Given the description of an element on the screen output the (x, y) to click on. 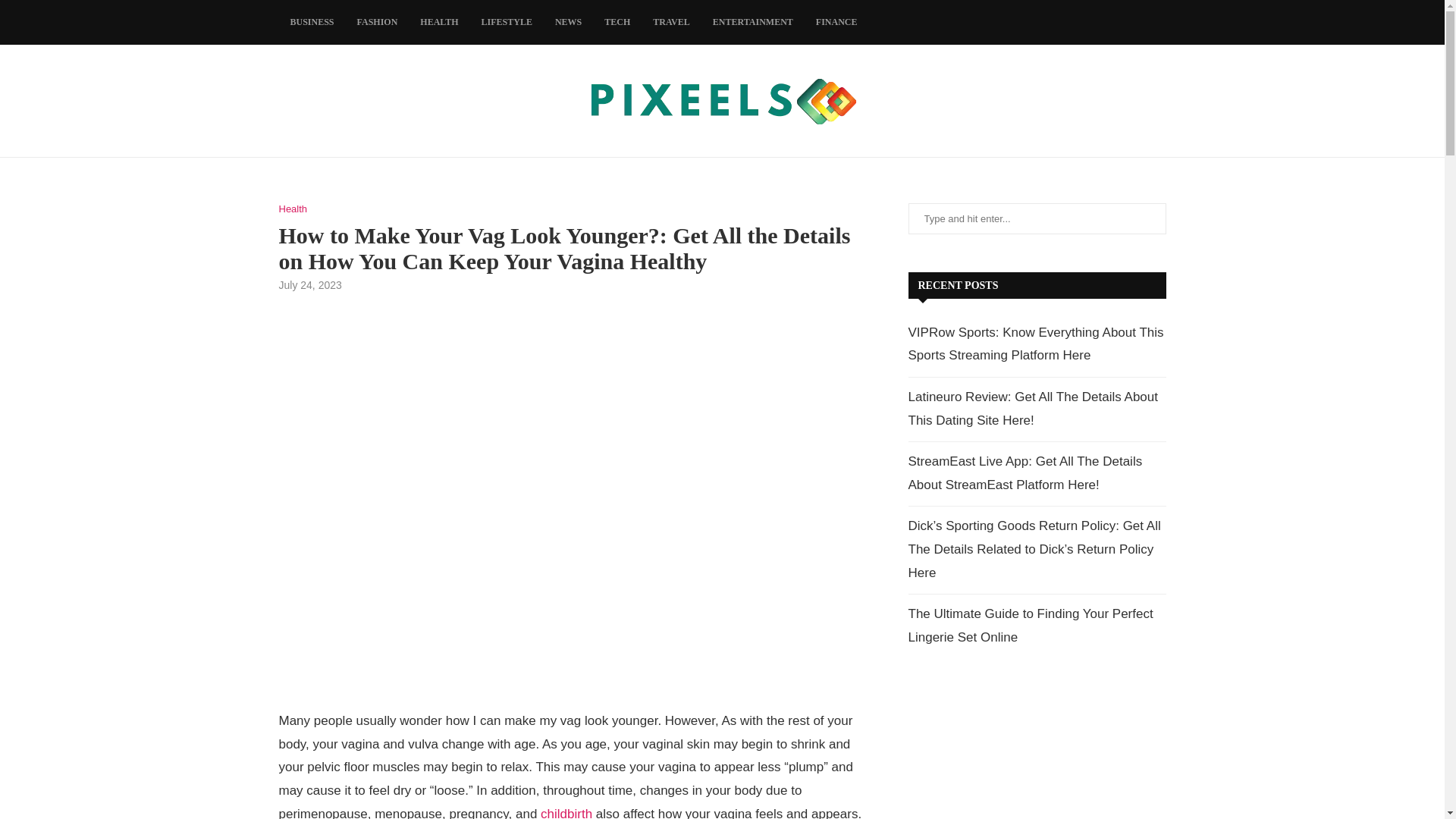
NEWS (567, 22)
LIFESTYLE (506, 22)
BUSINESS (312, 22)
Health (293, 209)
TRAVEL (671, 22)
Search (128, 15)
FASHION (377, 22)
childbirth (566, 812)
FINANCE (837, 22)
HEALTH (438, 22)
